Given the description of an element on the screen output the (x, y) to click on. 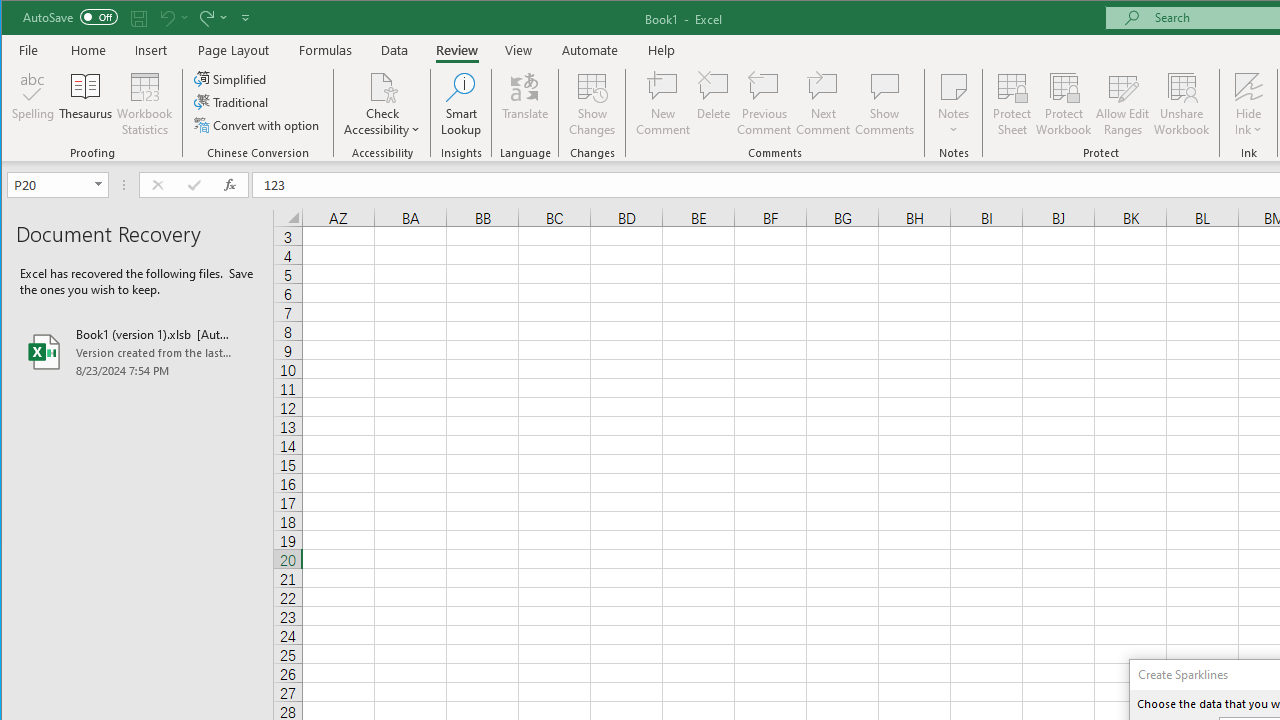
Delete (713, 104)
Protect Sheet... (1012, 104)
Smart Lookup (461, 104)
Spelling... (33, 104)
Next Comment (822, 104)
Check Accessibility (381, 86)
Show Comments (884, 104)
Hide Ink (1248, 104)
